Given the description of an element on the screen output the (x, y) to click on. 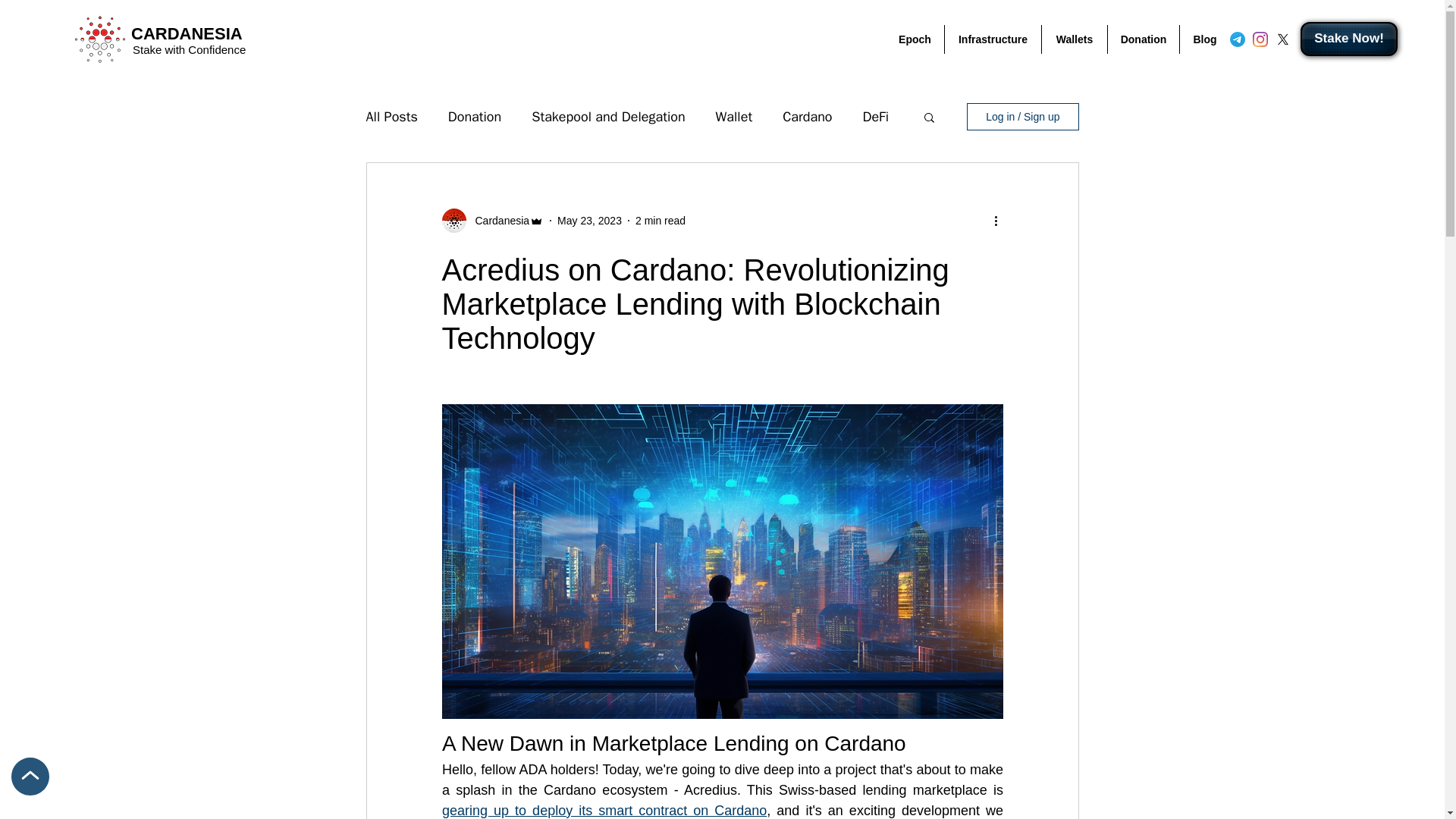
Wallet (734, 116)
Infrastructure (992, 39)
Epoch (914, 39)
Wallets (1074, 39)
May 23, 2023 (589, 219)
Cardano (807, 116)
Donation (1143, 39)
Stake with Confidence (189, 49)
Stakepool and Delegation (607, 116)
Donation (474, 116)
2 min read (659, 219)
gearing up to deploy its smart contract on Cardano (603, 810)
All Posts (390, 116)
CARDANESIA (187, 33)
Stake Now! (1348, 39)
